Given the description of an element on the screen output the (x, y) to click on. 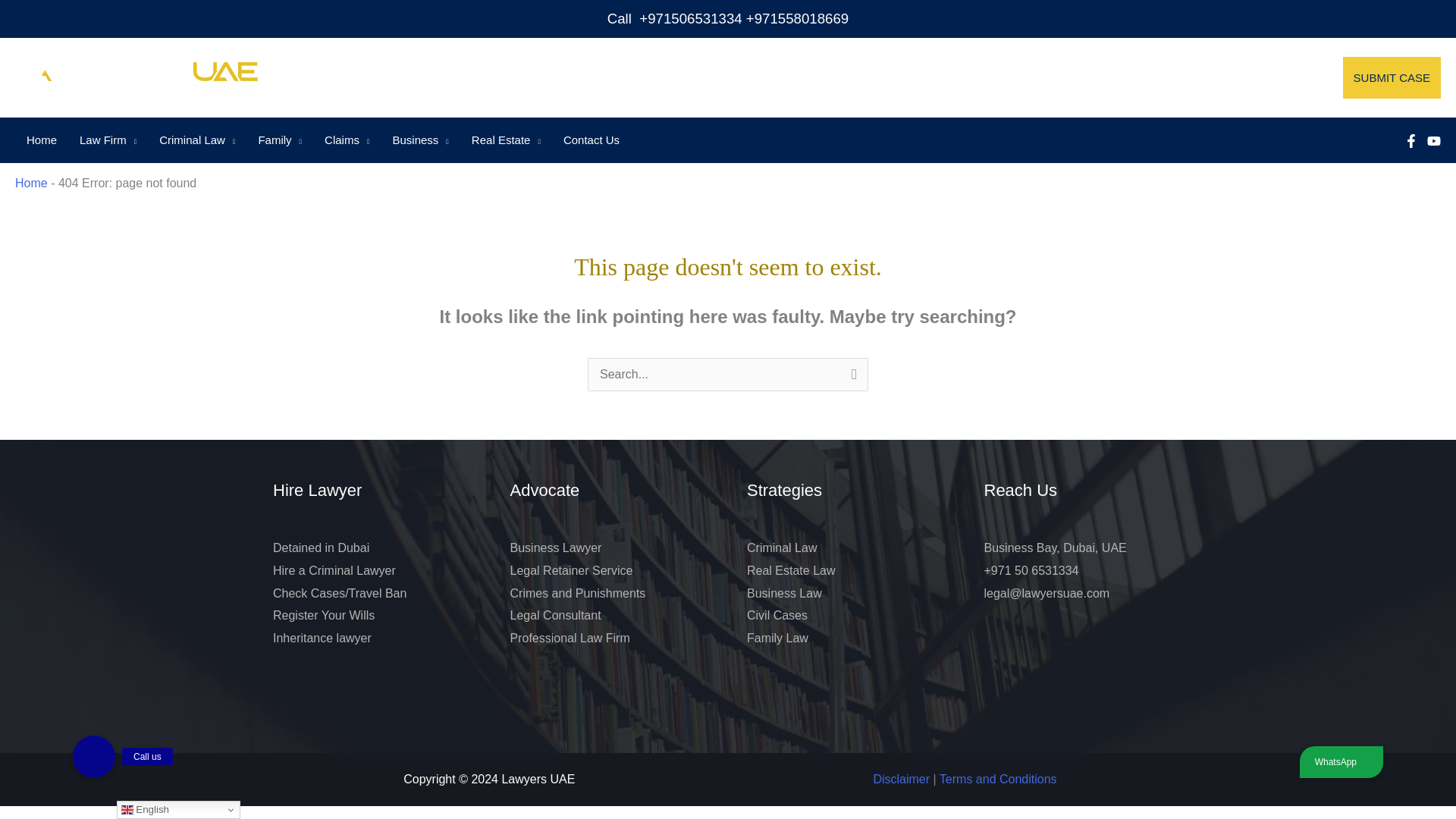
SUBMIT CASE (1391, 77)
Family (279, 139)
Criminal Law (197, 139)
Law Firm (108, 139)
Home (41, 139)
